Given the description of an element on the screen output the (x, y) to click on. 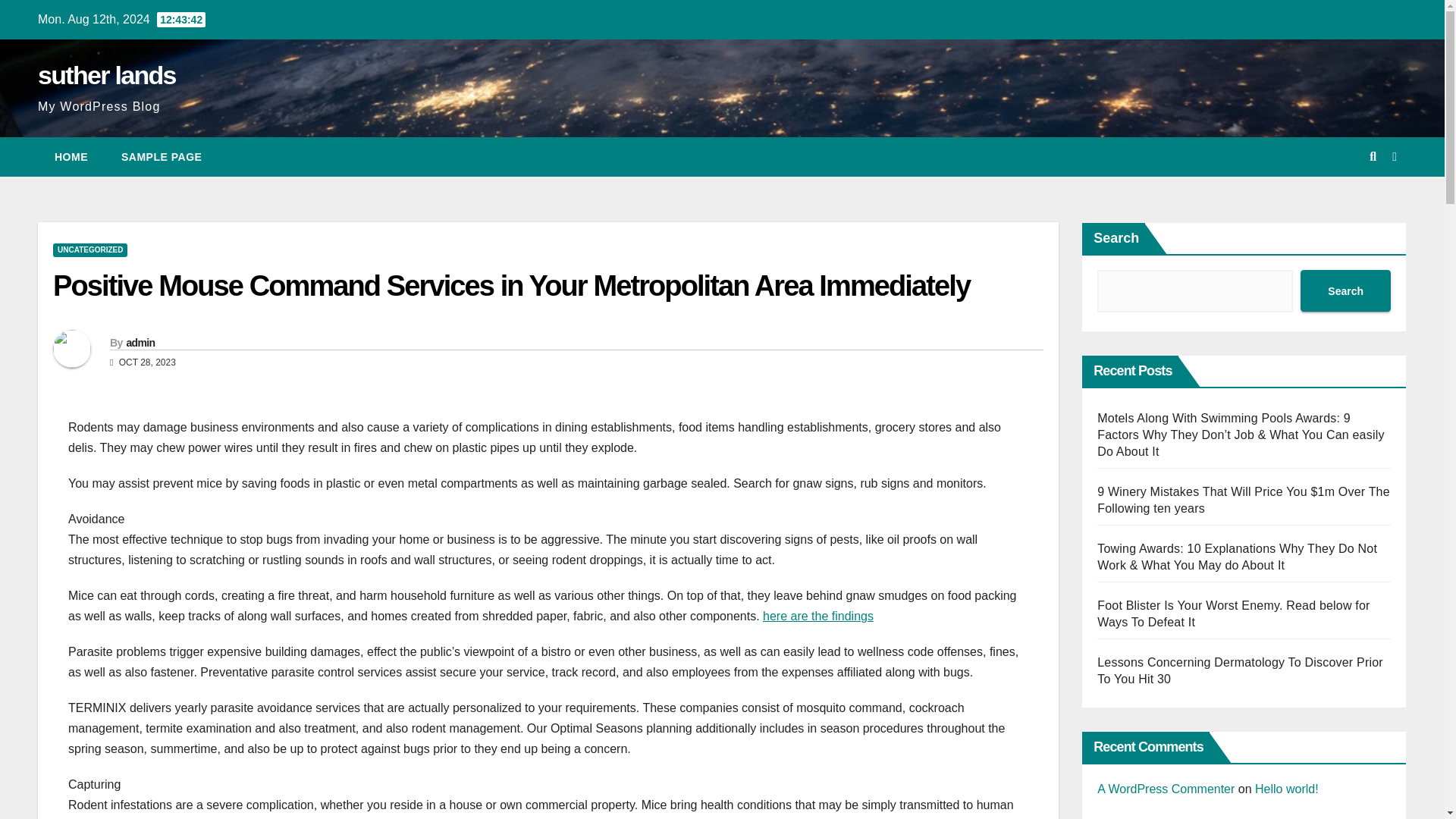
suther lands (106, 74)
Search (1345, 291)
HOME (70, 156)
Home (70, 156)
UNCATEGORIZED (90, 250)
admin (139, 342)
here are the findings (817, 615)
SAMPLE PAGE (161, 156)
